Given the description of an element on the screen output the (x, y) to click on. 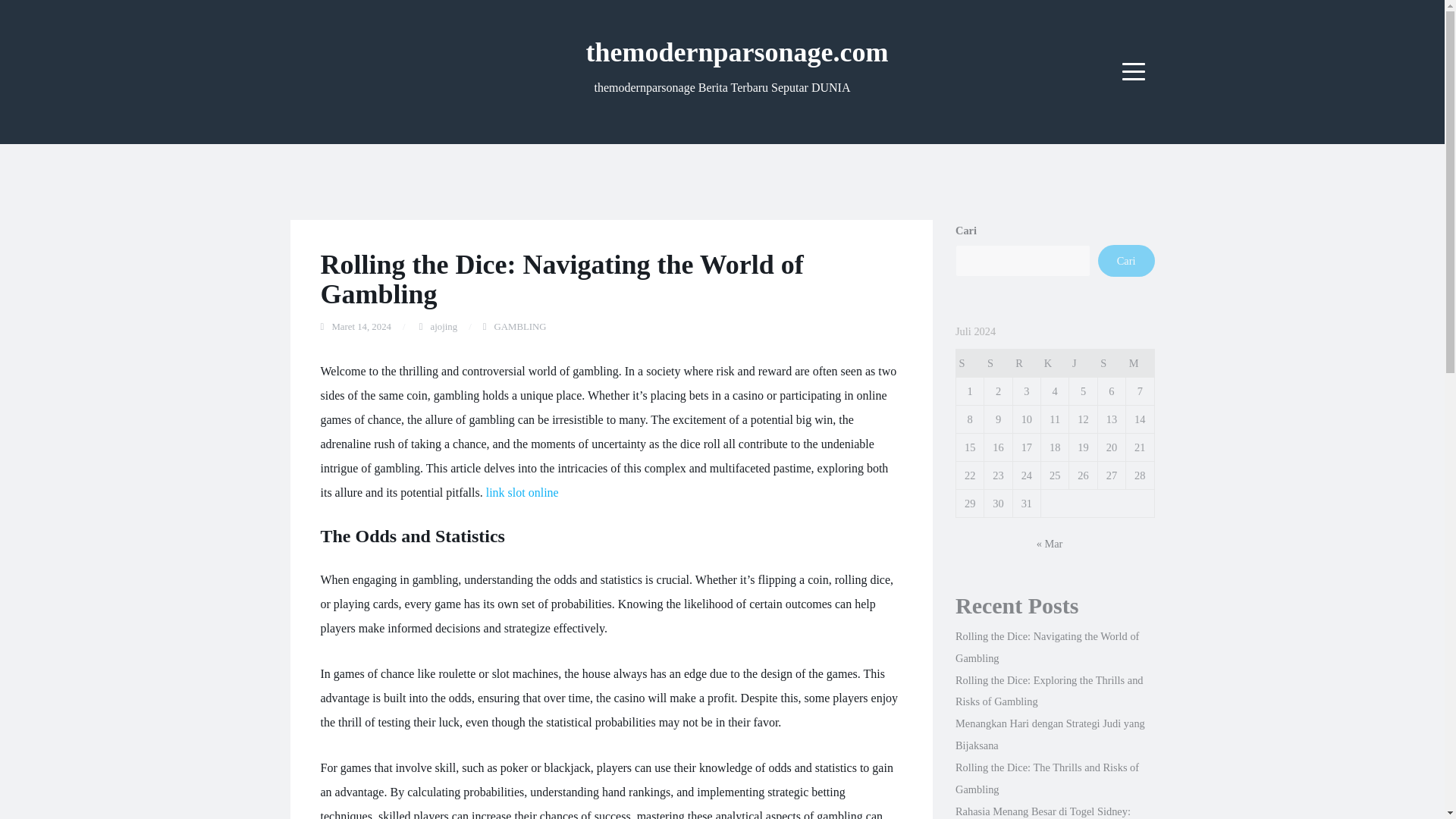
Rolling the Dice: Navigating the World of Gambling (1046, 646)
Sabtu (1111, 363)
Selasa (997, 363)
ajojing (444, 326)
Rabu (1026, 363)
Kamis (1054, 363)
Menu (1133, 71)
Minggu (1139, 363)
Cari (1125, 260)
Rolling the Dice: The Thrills and Risks of Gambling (1046, 778)
Senin (969, 363)
link slot online (522, 492)
Menangkan Hari dengan Strategi Judi yang Bijaksana (1049, 734)
